Given the description of an element on the screen output the (x, y) to click on. 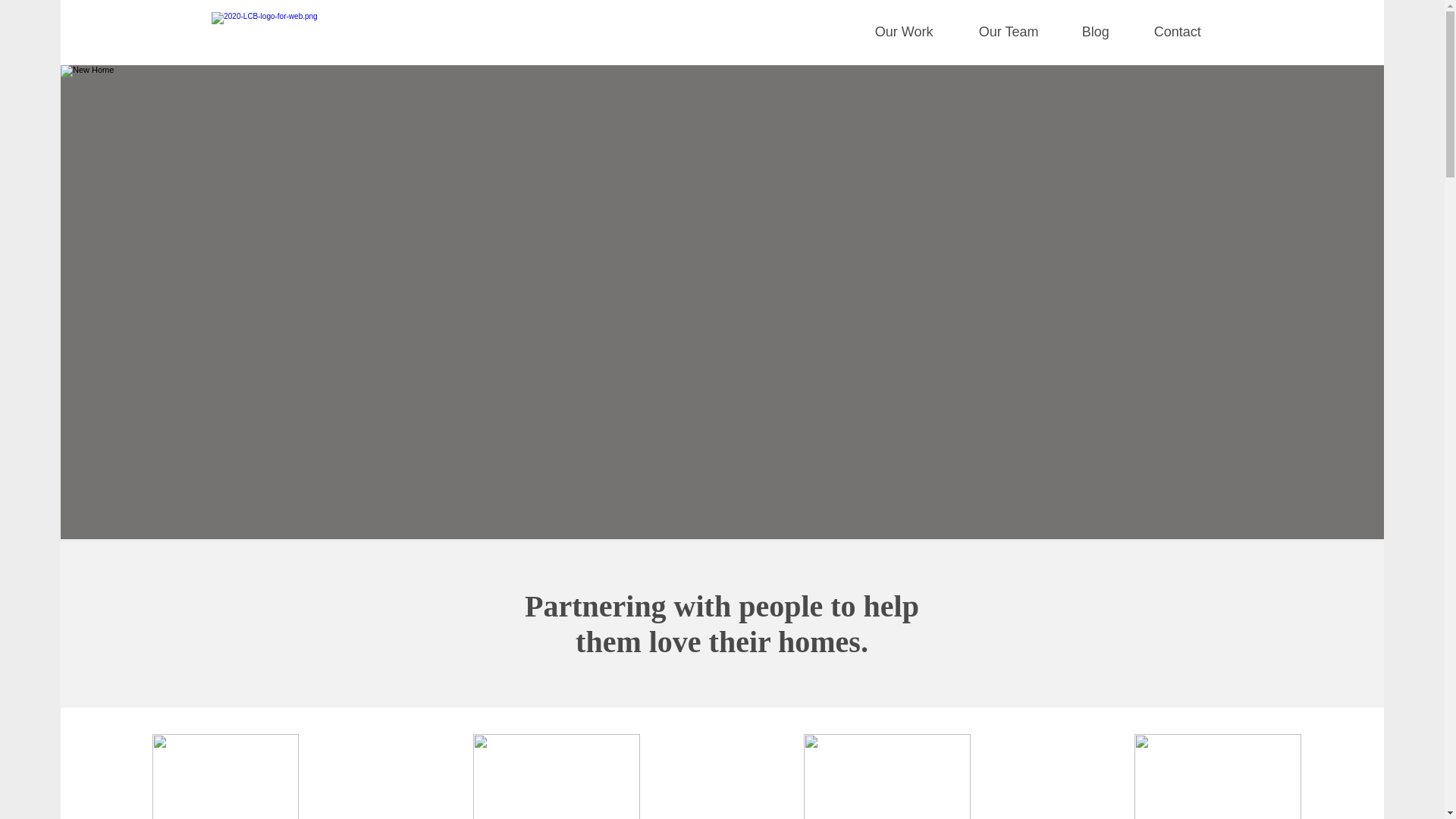
Contact (1193, 31)
Our Team (1022, 31)
Blog (1110, 31)
